Given the description of an element on the screen output the (x, y) to click on. 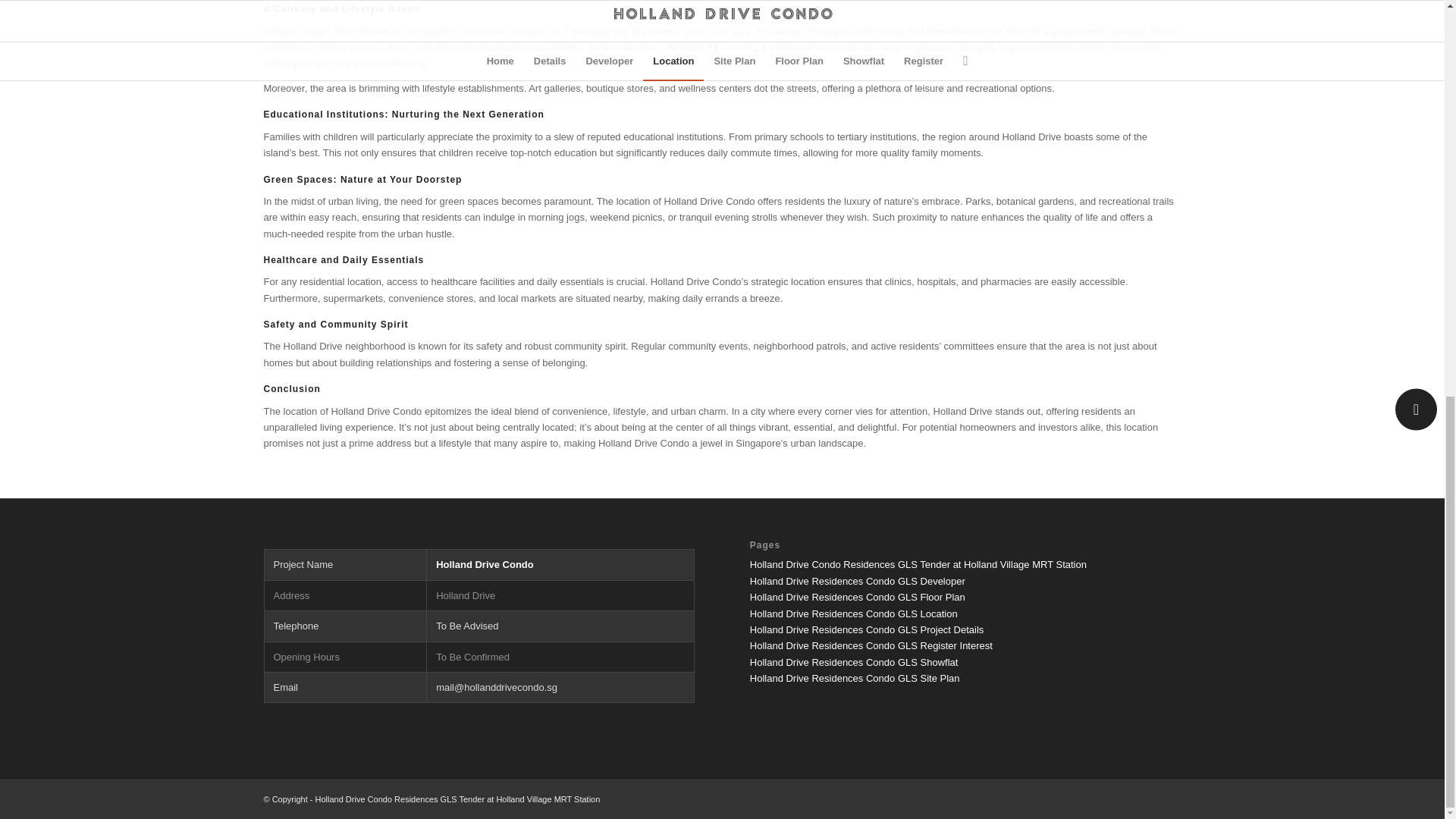
Holland Drive Residences Condo GLS Floor Plan (857, 596)
Holland Drive Residences Condo GLS Project Details (866, 629)
Holland Drive Residences Condo GLS Site Plan (854, 677)
Holland Drive Residences Condo GLS Location (853, 613)
Holland Drive Residences Condo GLS Register Interest (870, 645)
Holland Drive Residences Condo GLS Showflat (853, 662)
Holland Drive Residences Condo GLS Developer (857, 581)
